Given the description of an element on the screen output the (x, y) to click on. 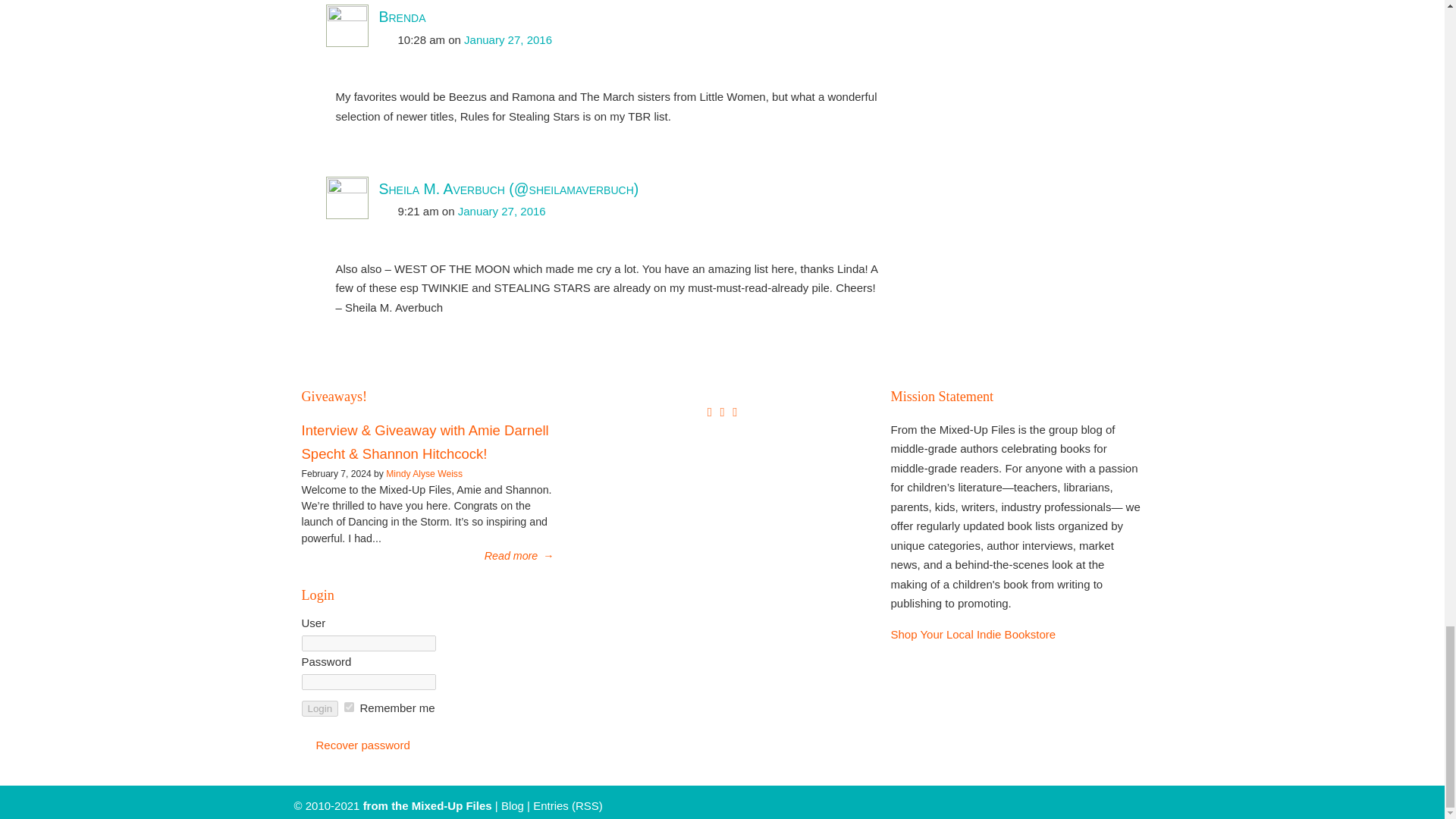
Login (320, 708)
forever (348, 706)
